Given the description of an element on the screen output the (x, y) to click on. 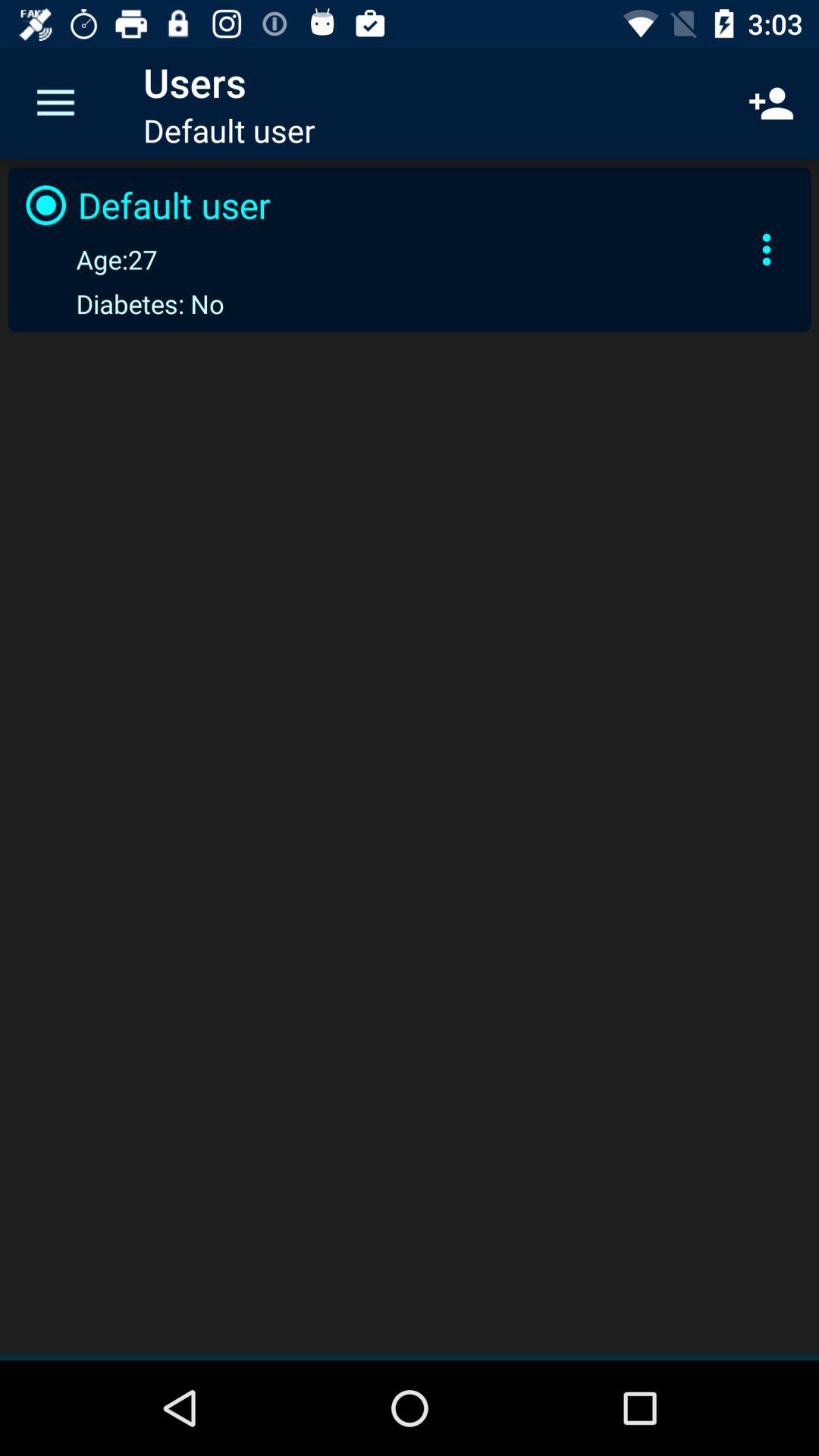
open the icon to the right of the default user icon (771, 103)
